Given the description of an element on the screen output the (x, y) to click on. 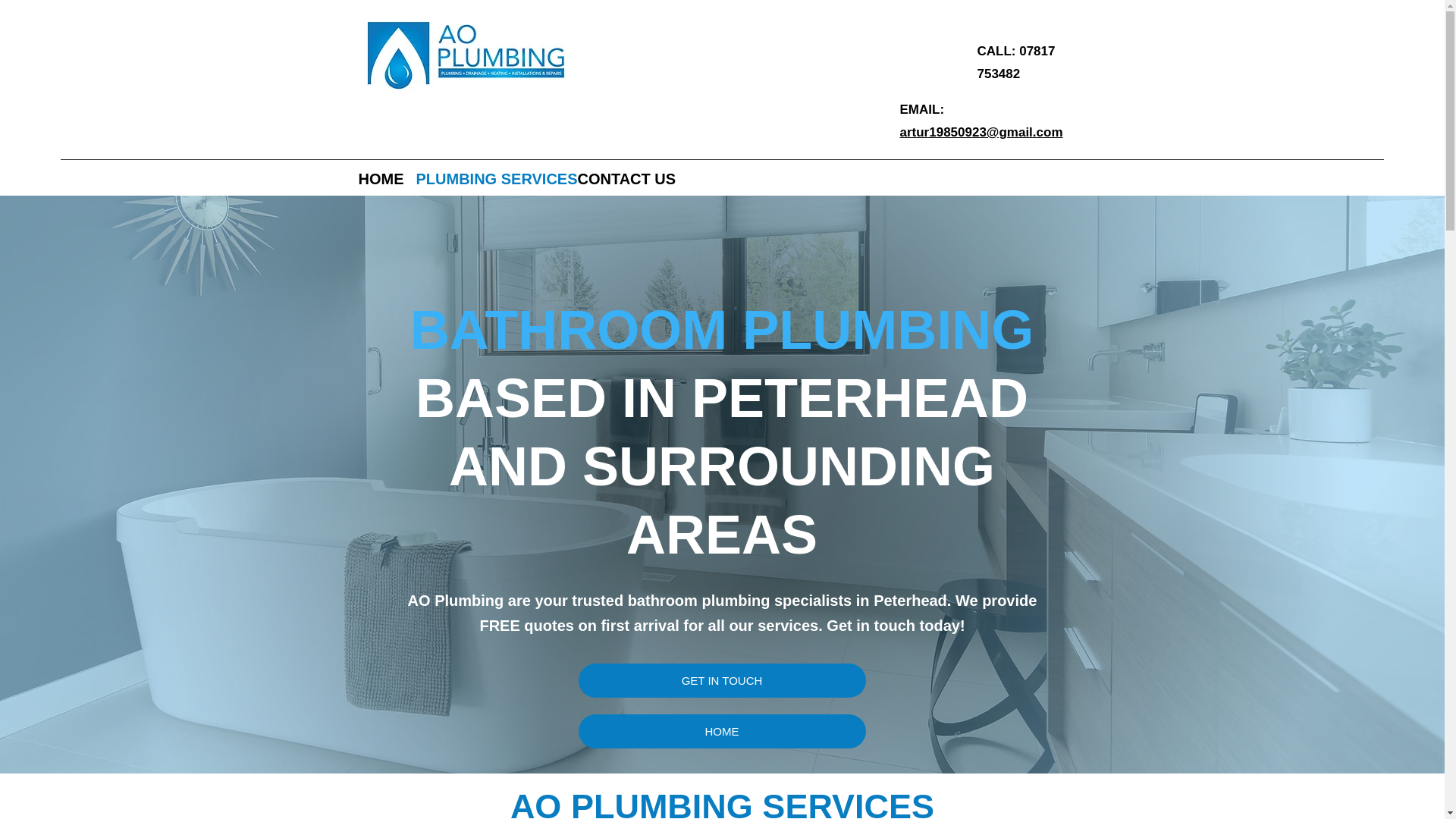
PLUMBING SERVICES (488, 177)
HOME (721, 731)
GET IN TOUCH (721, 680)
CONTACT US (624, 177)
HOME (378, 177)
